Given the description of an element on the screen output the (x, y) to click on. 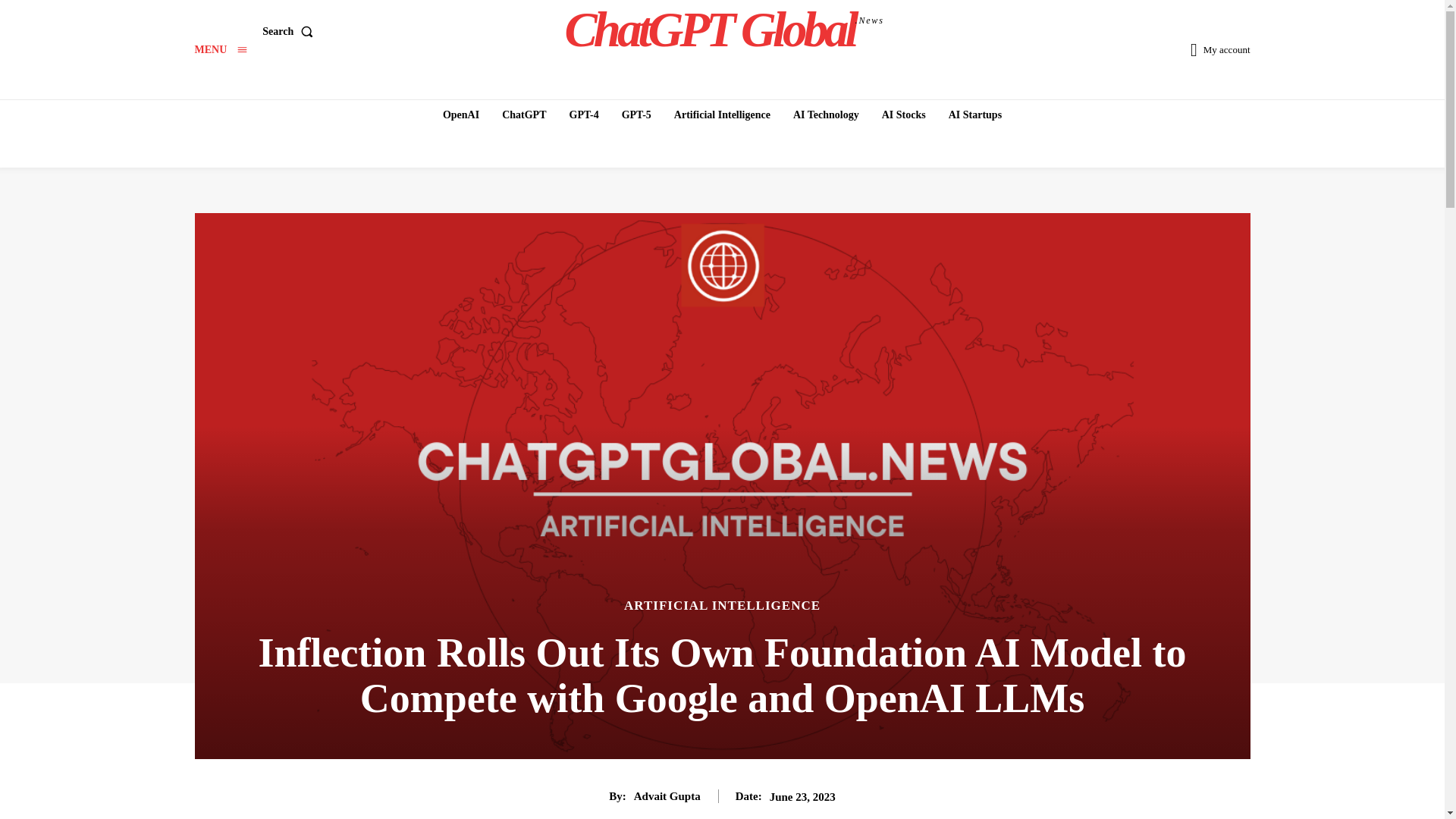
AI Technology (724, 29)
GPT-4 (826, 115)
AI Startups (582, 115)
Search (974, 115)
GPT-5 (290, 30)
ARTIFICIAL INTELLIGENCE (636, 115)
AI Stocks (722, 604)
Menu (904, 115)
Advait Gupta (220, 49)
OpenAI (666, 796)
MENU (460, 115)
Artificial Intelligence (220, 49)
ChatGPT (721, 115)
